Given the description of an element on the screen output the (x, y) to click on. 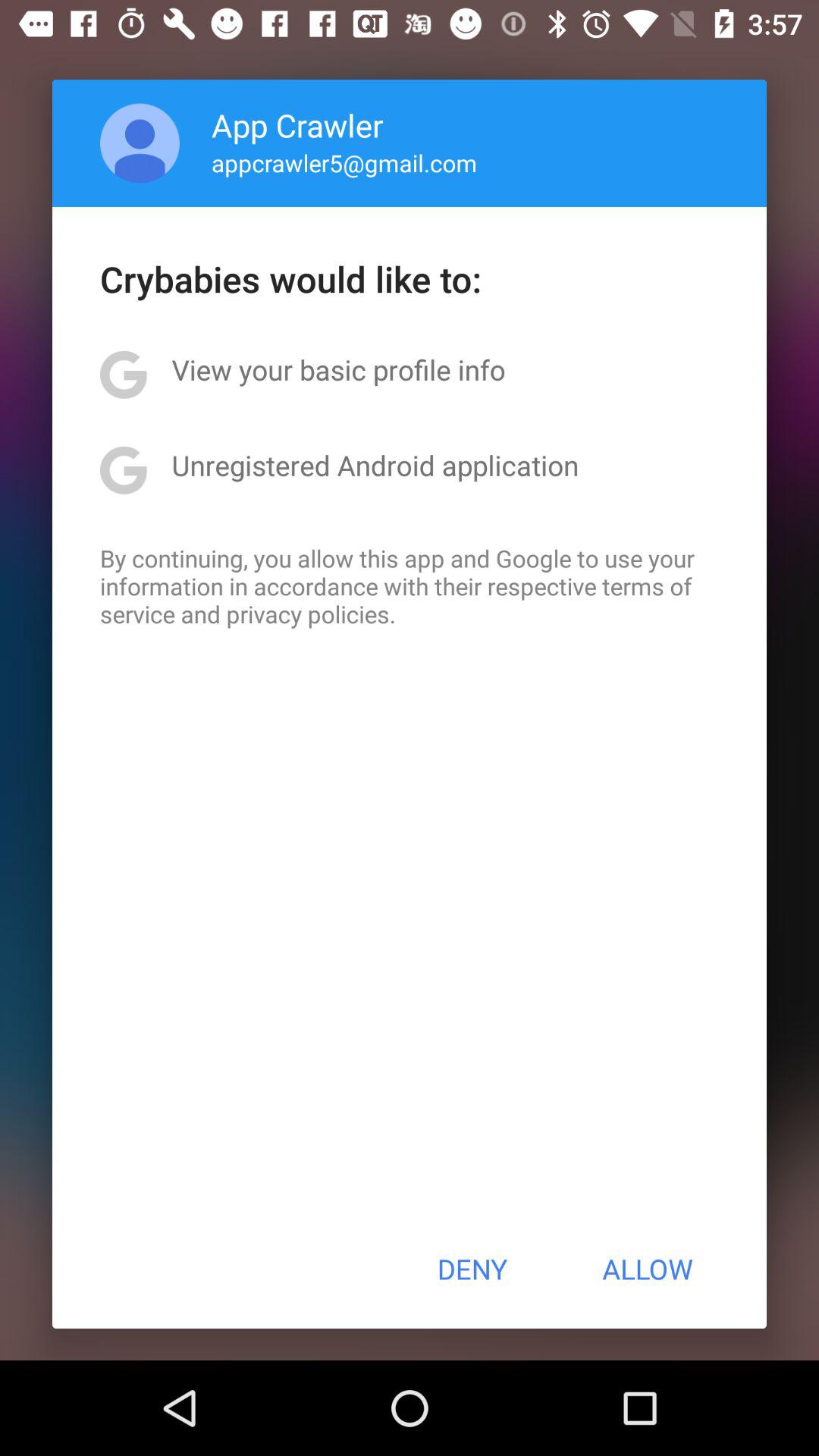
turn off the icon above by continuing you icon (374, 465)
